Given the description of an element on the screen output the (x, y) to click on. 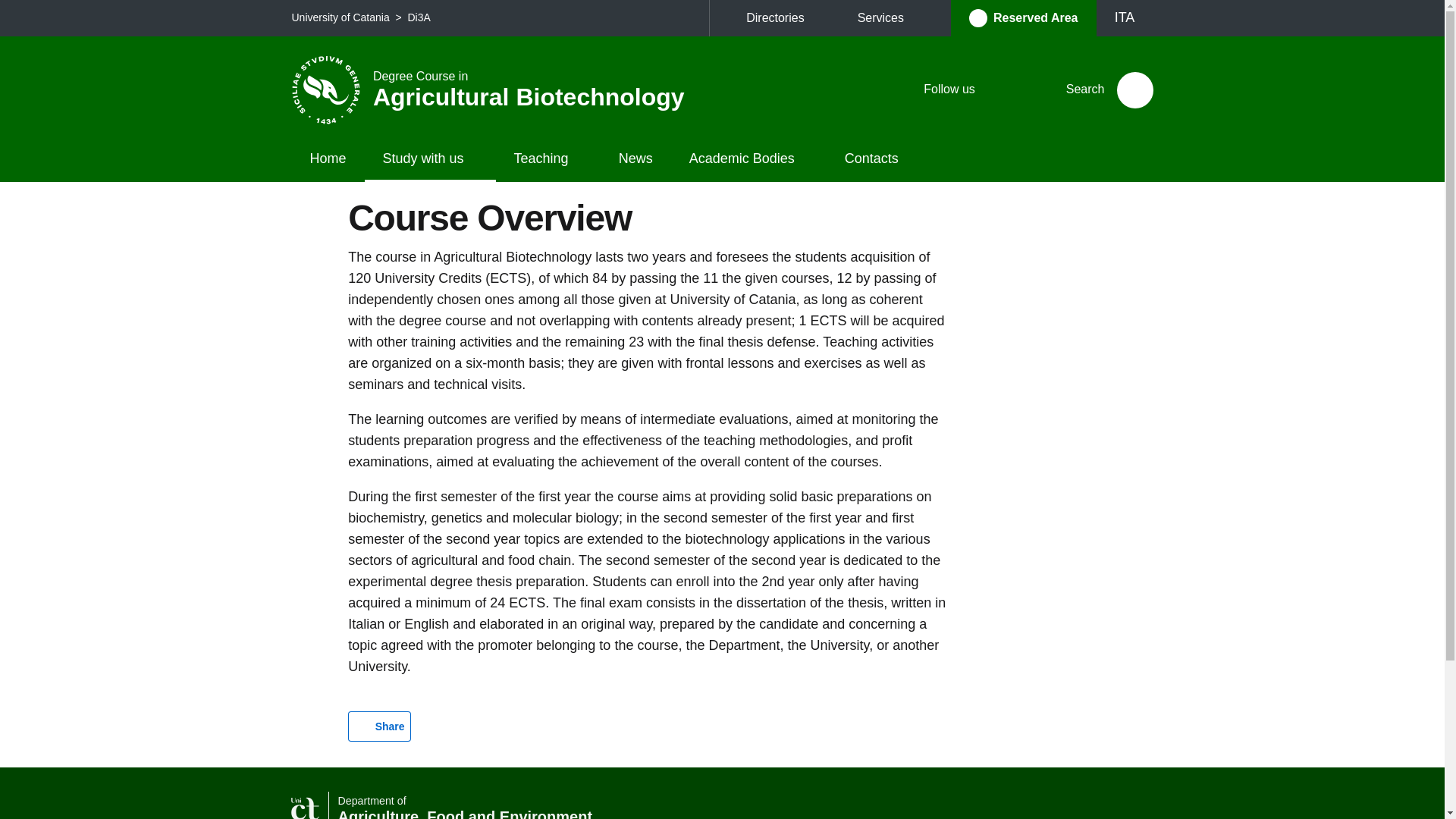
News (635, 159)
Teaching (547, 159)
ITA (1124, 17)
Home (327, 159)
Go to main content (6, 6)
Search (1134, 89)
Directories (783, 18)
Di3A (496, 89)
Reserved Area (418, 17)
